Given the description of an element on the screen output the (x, y) to click on. 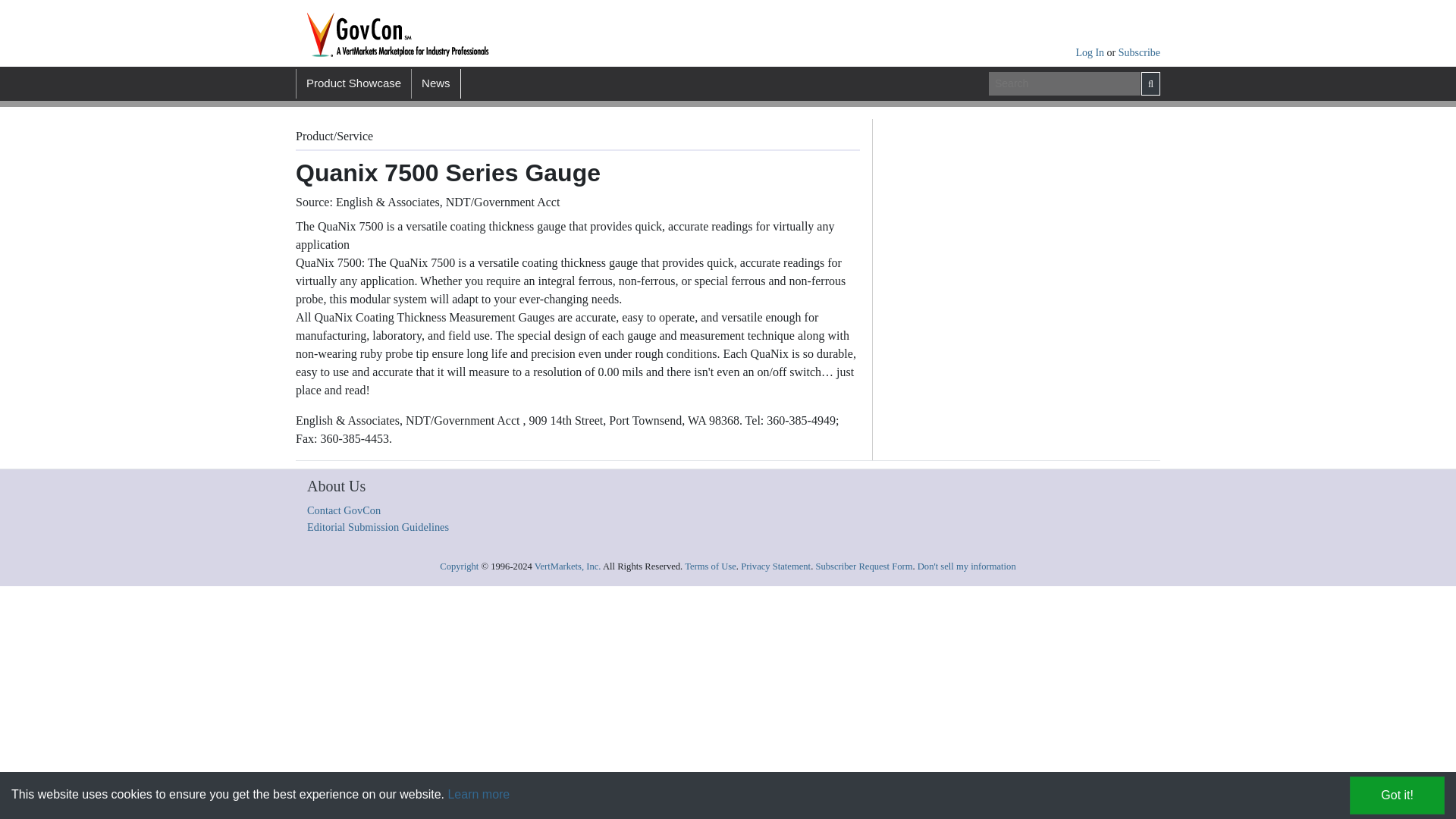
News (435, 83)
Subscriber Request Form (863, 566)
Editorial Submission Guidelines (377, 526)
VertMarkets, Inc. (567, 566)
Don't sell my information (966, 566)
Product Showcase (352, 83)
Print (684, 133)
Privacy Statement (775, 566)
Copyright (459, 566)
Subscribe (1139, 52)
